Given the description of an element on the screen output the (x, y) to click on. 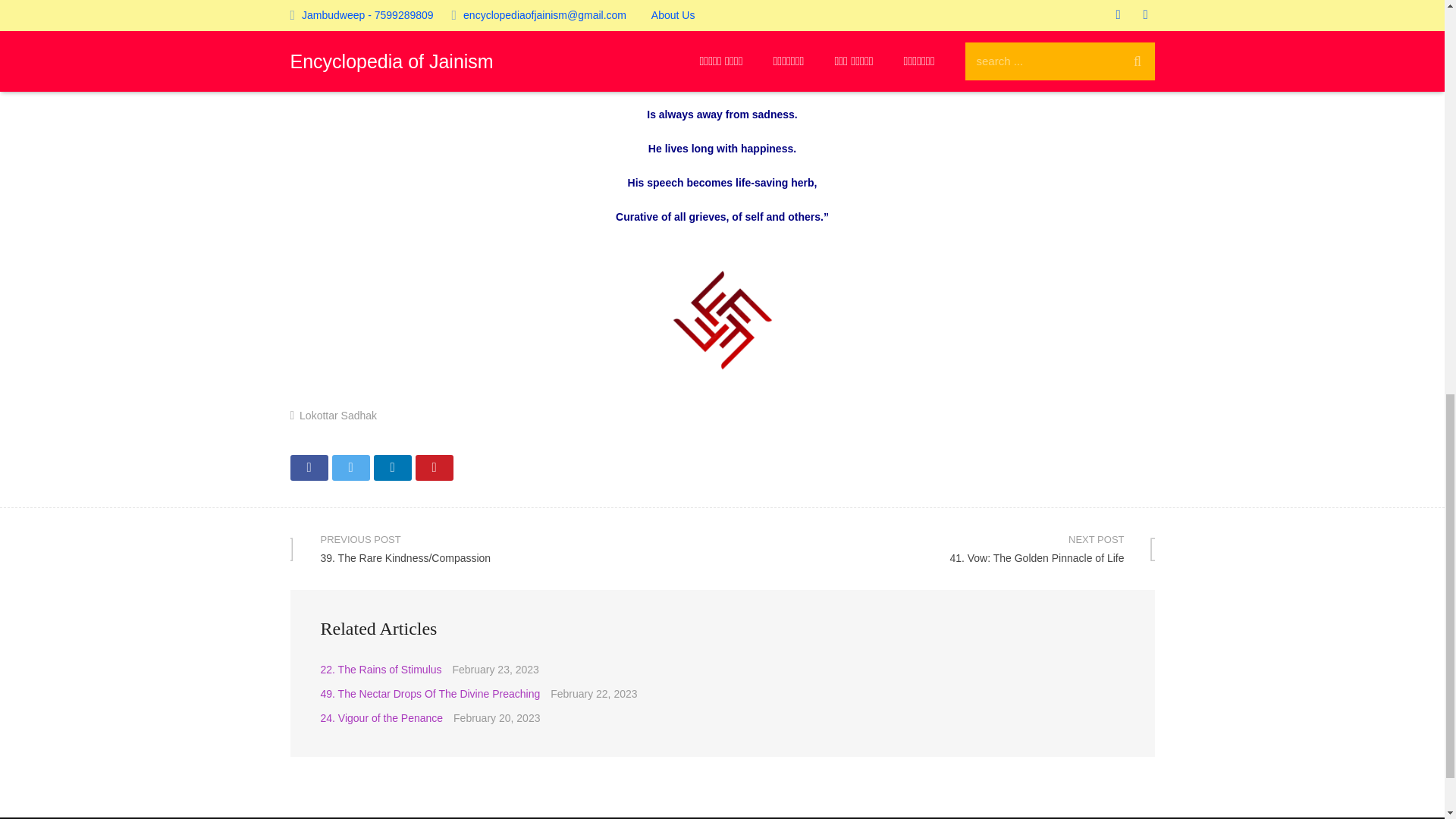
24. Vigour of the Penance (381, 717)
Lokottar Sadhak (338, 415)
22. The Rains of Stimulus (380, 669)
Share this (391, 467)
Tweet this (350, 467)
Share this (938, 548)
Back to top (308, 467)
Pin this (1411, 21)
49. The Nectar Drops Of The Divine Preaching (433, 467)
